Given the description of an element on the screen output the (x, y) to click on. 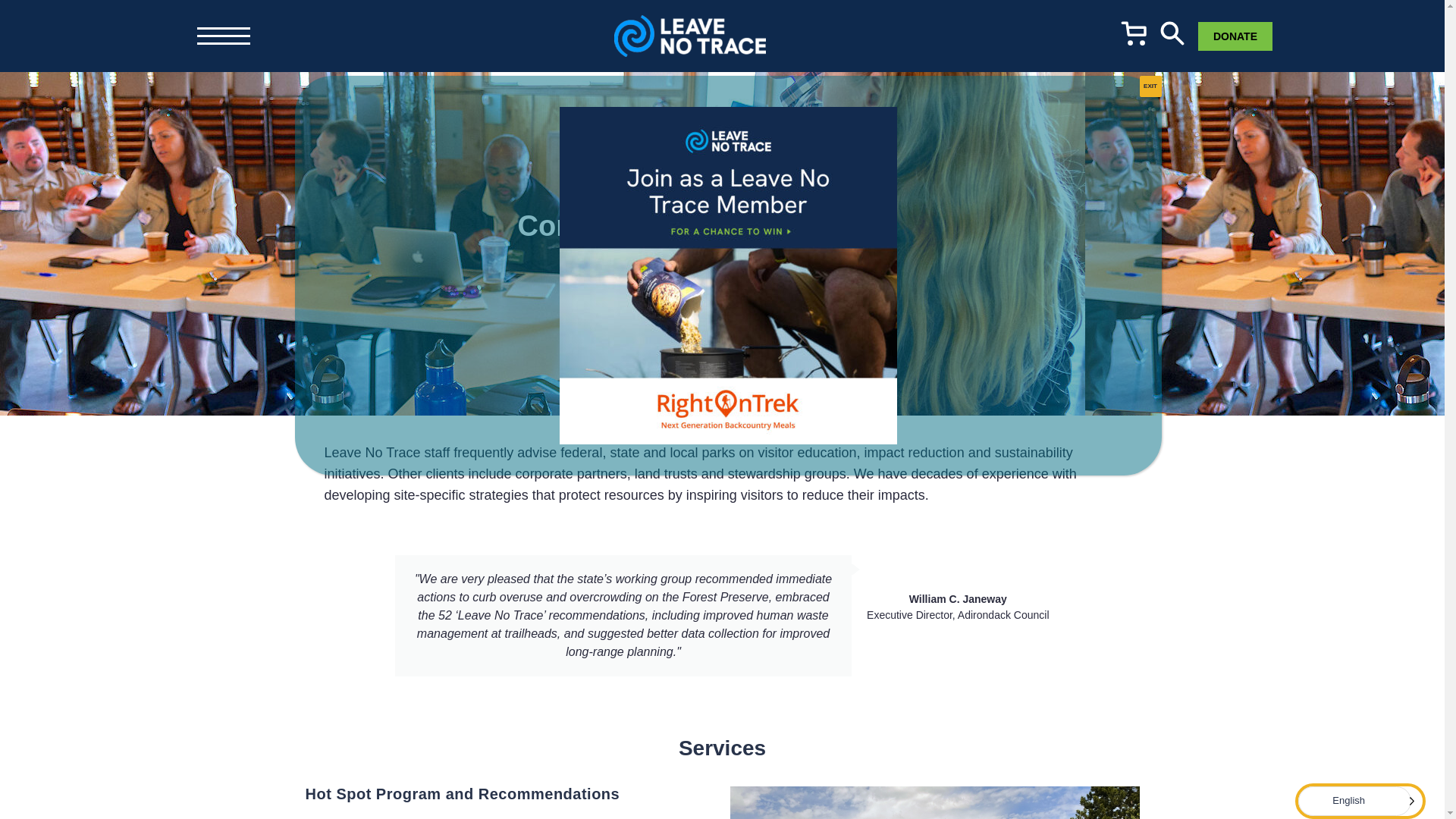
Go to Consulting Services. (424, 15)
Go to Leave No Trace. (232, 15)
Go to Programs. (322, 15)
